Given the description of an element on the screen output the (x, y) to click on. 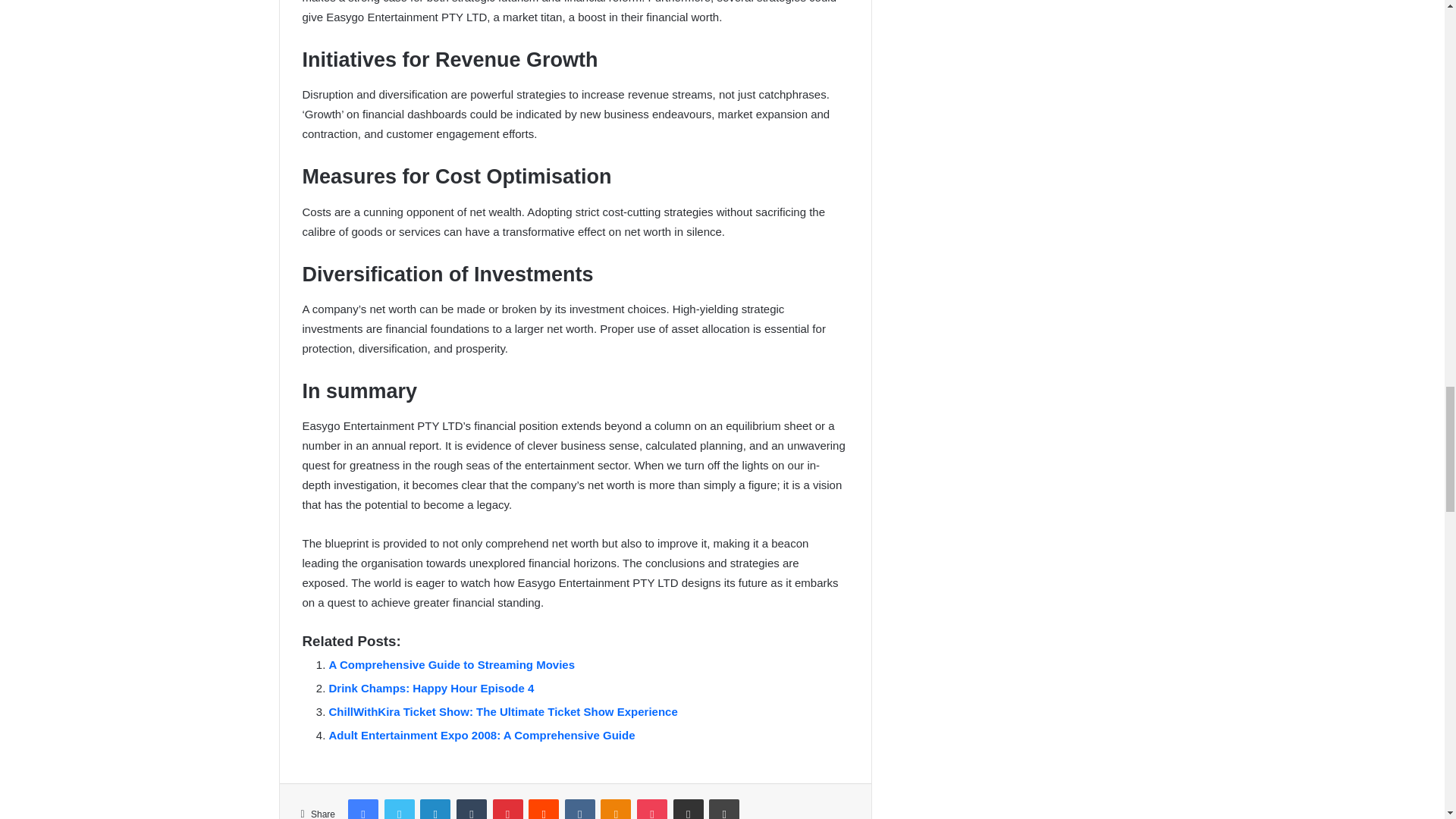
A Comprehensive Guide to Streaming Movies (452, 664)
Drink Champs: Happy Hour Episode 4 (431, 687)
Adult Entertainment Expo 2008: A Comprehensive Guide (481, 735)
Drink Champs: Happy Hour Episode 4 (431, 687)
A Comprehensive Guide to Streaming Movies (452, 664)
